Given the description of an element on the screen output the (x, y) to click on. 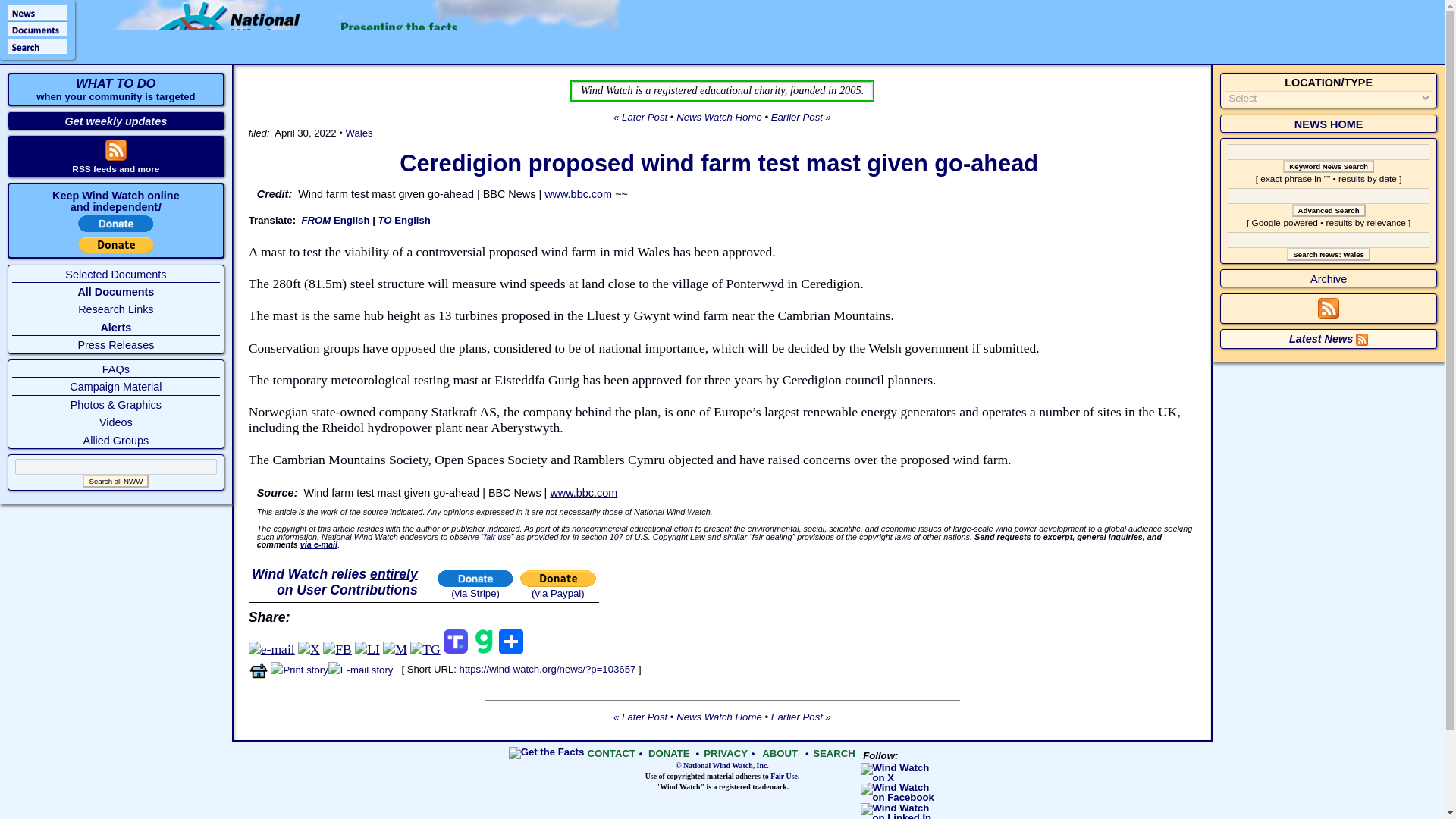
Wind Watch RSS Feeds (115, 156)
Wind Watch News Feeds (1328, 315)
Wind Watch RSS Feeds (114, 168)
News Watch Home (719, 116)
NEWS HOME (1328, 123)
Press Releases (115, 345)
Ceredigion proposed wind farm test mast given go-ahead (718, 162)
Search News: Wales (1328, 254)
Research Links (115, 309)
Archive (1328, 278)
